Given the description of an element on the screen output the (x, y) to click on. 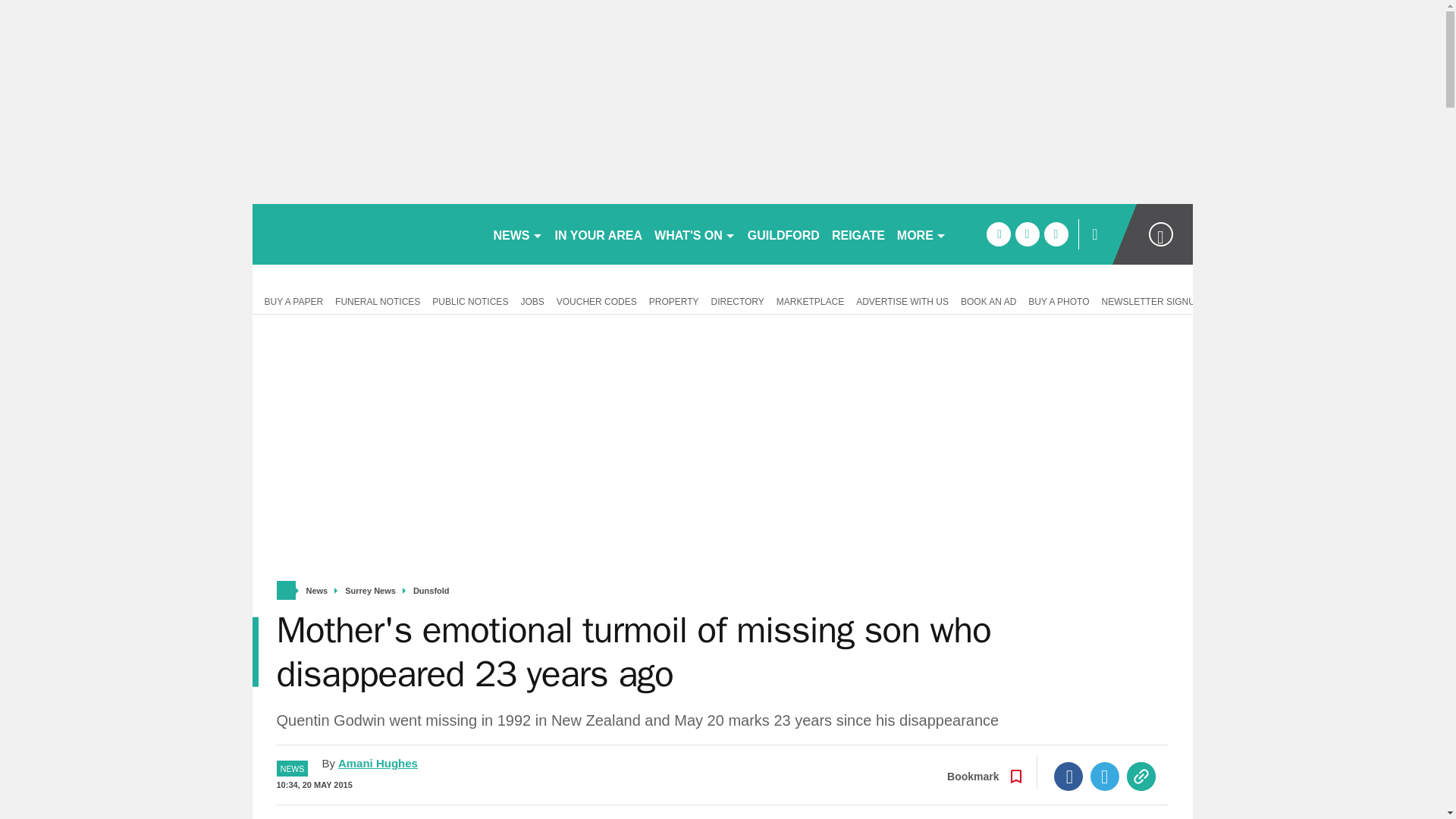
MORE (921, 233)
PUBLIC NOTICES (469, 300)
NEWS (517, 233)
twitter (1026, 233)
BUY A PAPER (290, 300)
FUNERAL NOTICES (377, 300)
facebook (997, 233)
Facebook (1068, 776)
WHAT'S ON (694, 233)
getsurrey (365, 233)
PROPERTY (673, 300)
IN YOUR AREA (598, 233)
GUILDFORD (783, 233)
Twitter (1104, 776)
VOUCHER CODES (596, 300)
